Given the description of an element on the screen output the (x, y) to click on. 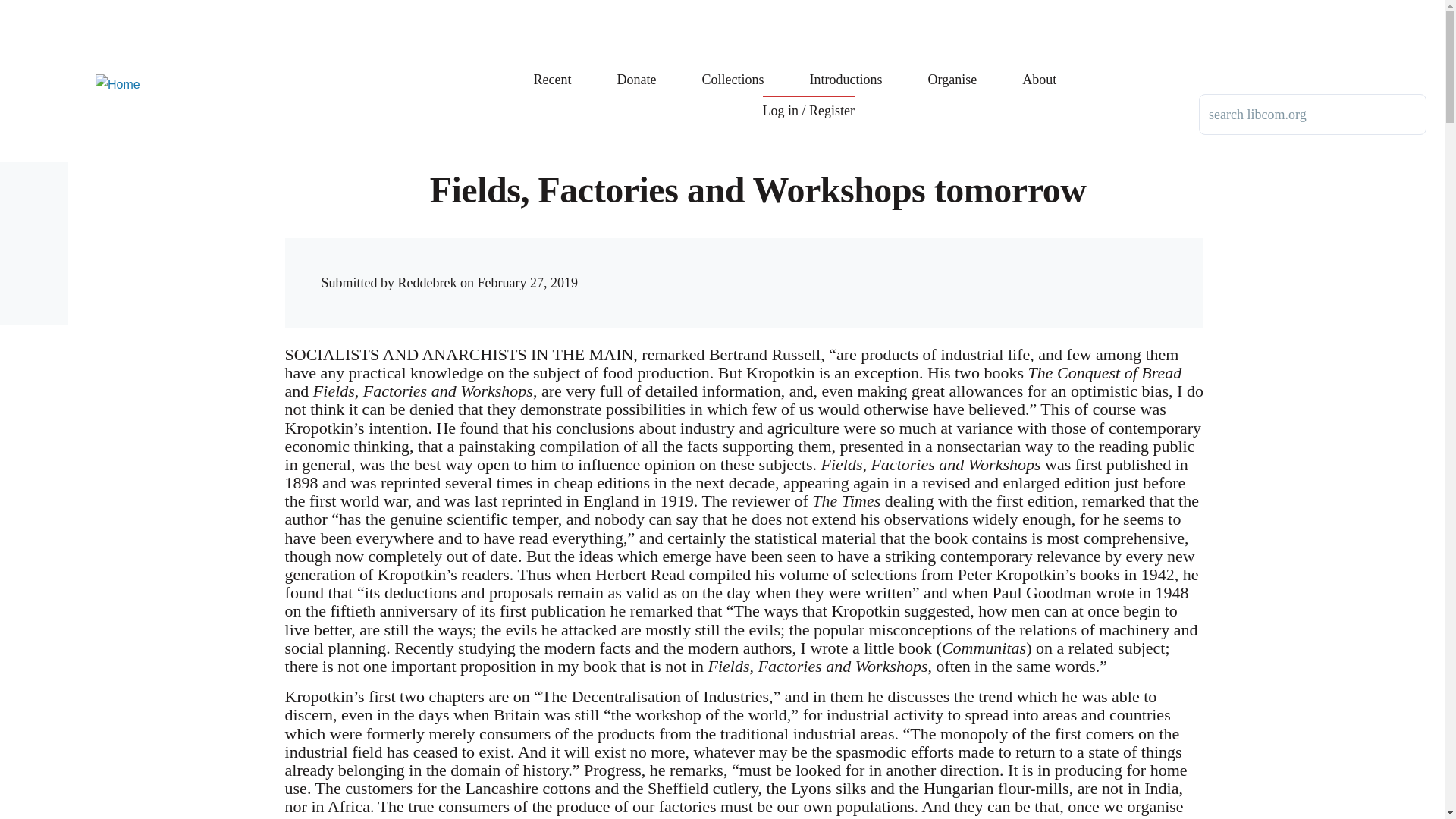
Skip to main content (595, 6)
Introductions (845, 68)
Share to Twitter (945, 268)
Collections (732, 68)
Organise (952, 68)
Share to Facebook (914, 268)
Share to Reddit (975, 268)
